Given the description of an element on the screen output the (x, y) to click on. 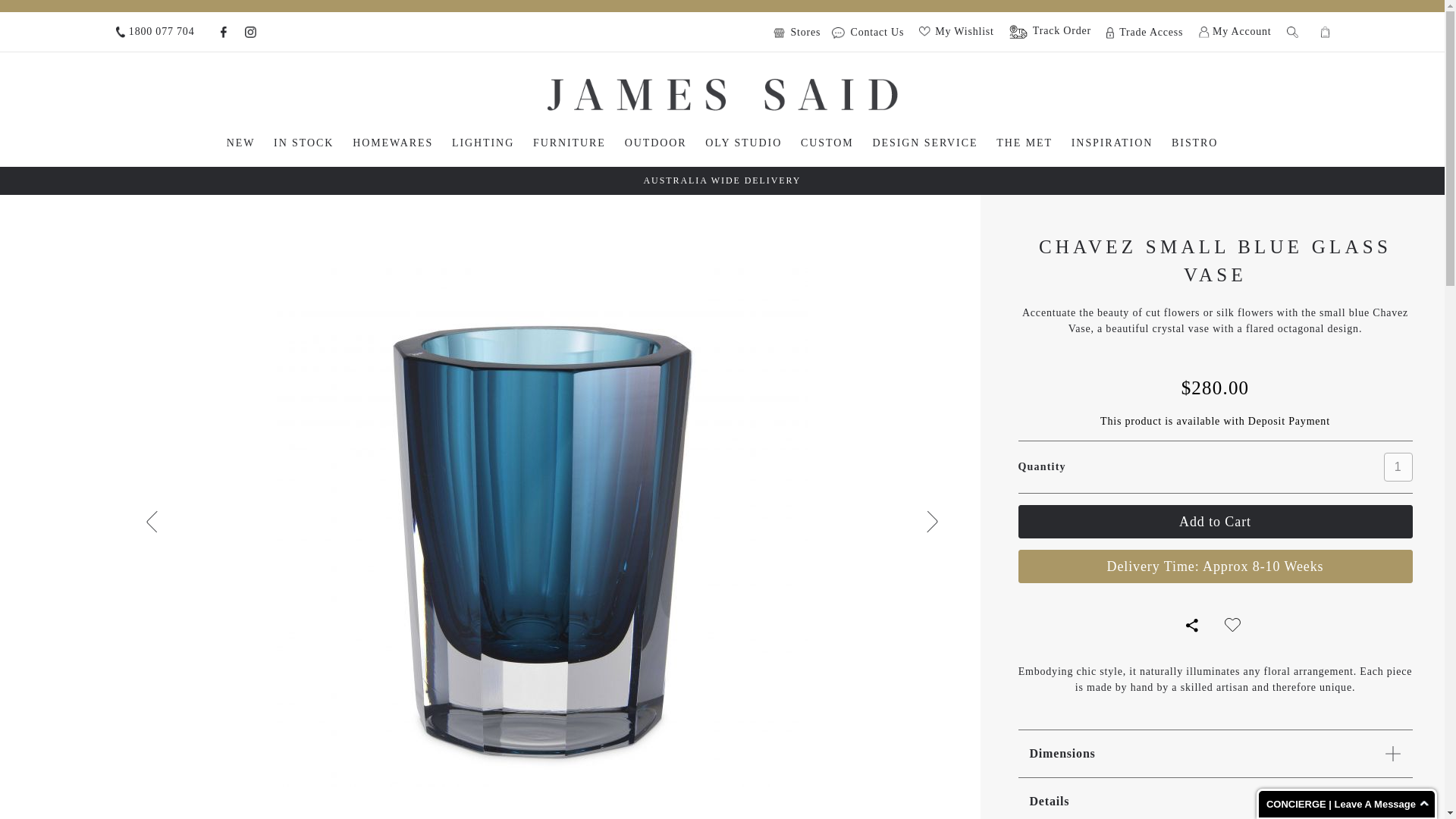
IN STOCK (303, 142)
1800 077 704 (154, 31)
HOMEWARES (393, 142)
Qty (1397, 466)
Trade Access (1144, 32)
1 (1397, 466)
Jamessaid (722, 94)
Add to Cart (1214, 521)
My Wishlist (956, 30)
Track Order (1049, 31)
My Account (1234, 31)
Contact Us (867, 32)
Stores (800, 32)
NEW (241, 142)
